Given the description of an element on the screen output the (x, y) to click on. 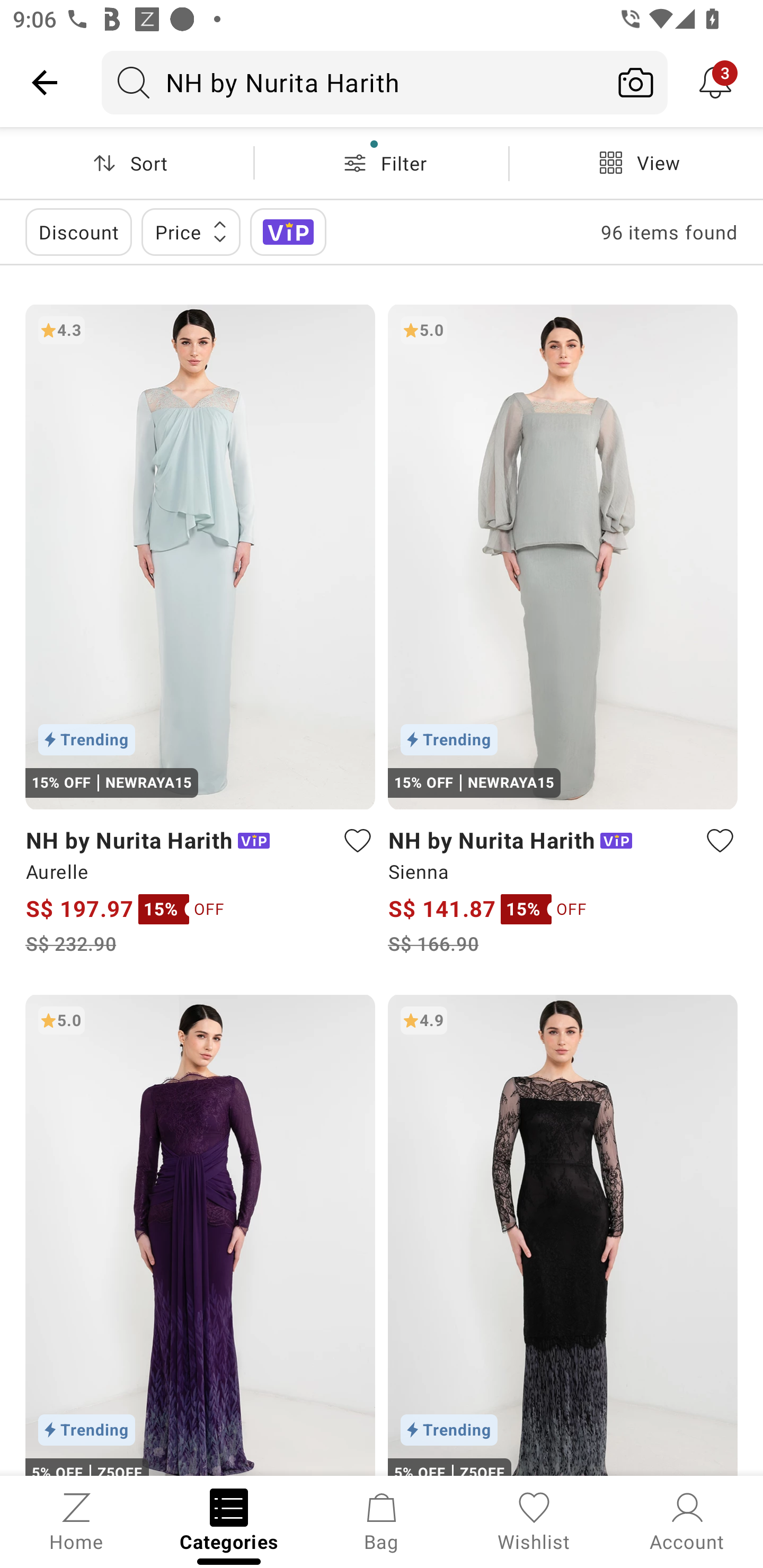
Navigate up (44, 82)
NH by Nurita Harith (352, 82)
Sort (126, 163)
Filter (381, 163)
View (636, 163)
Discount (78, 231)
Price (190, 231)
5.0 Trending 5% OFF Z5OFF (200, 1234)
4.9 Trending 5% OFF Z5OFF (562, 1234)
Home (76, 1519)
Bag (381, 1519)
Wishlist (533, 1519)
Account (686, 1519)
